Given the description of an element on the screen output the (x, y) to click on. 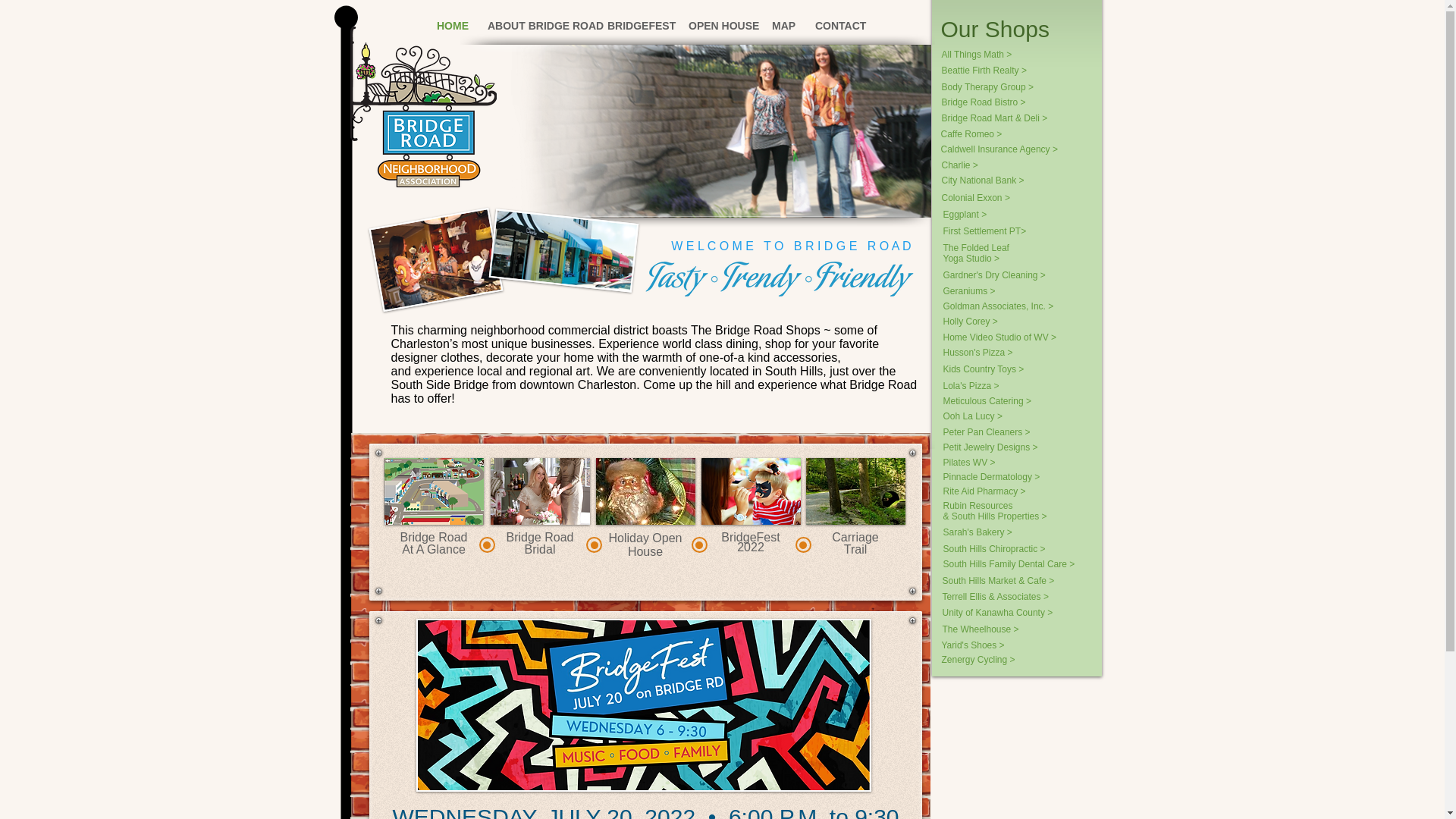
HOME (450, 25)
The Folded Leaf (981, 247)
OPEN HOUSE (718, 25)
Bridge Road (433, 536)
CONTACT (835, 25)
BridgeFest (749, 536)
santa.jpg (645, 490)
At A Glance (433, 549)
Bridge Road (539, 536)
